Given the description of an element on the screen output the (x, y) to click on. 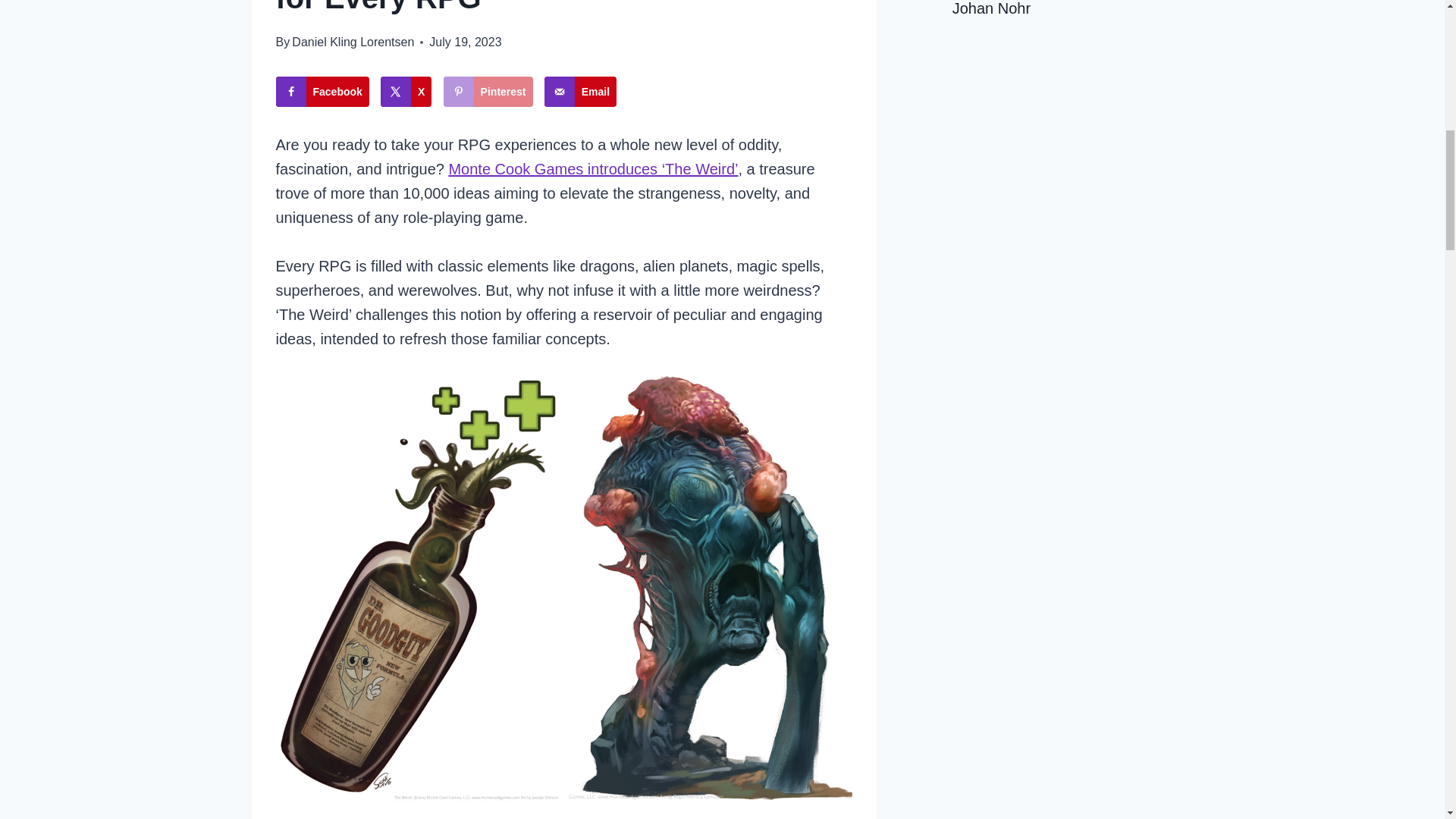
Daniel Kling Lorentsen (352, 42)
X (405, 91)
Email (579, 91)
Pinterest (488, 91)
Share on Facebook (322, 91)
Facebook (322, 91)
Save to Pinterest (488, 91)
Send over email (579, 91)
Share on X (405, 91)
